Given the description of an element on the screen output the (x, y) to click on. 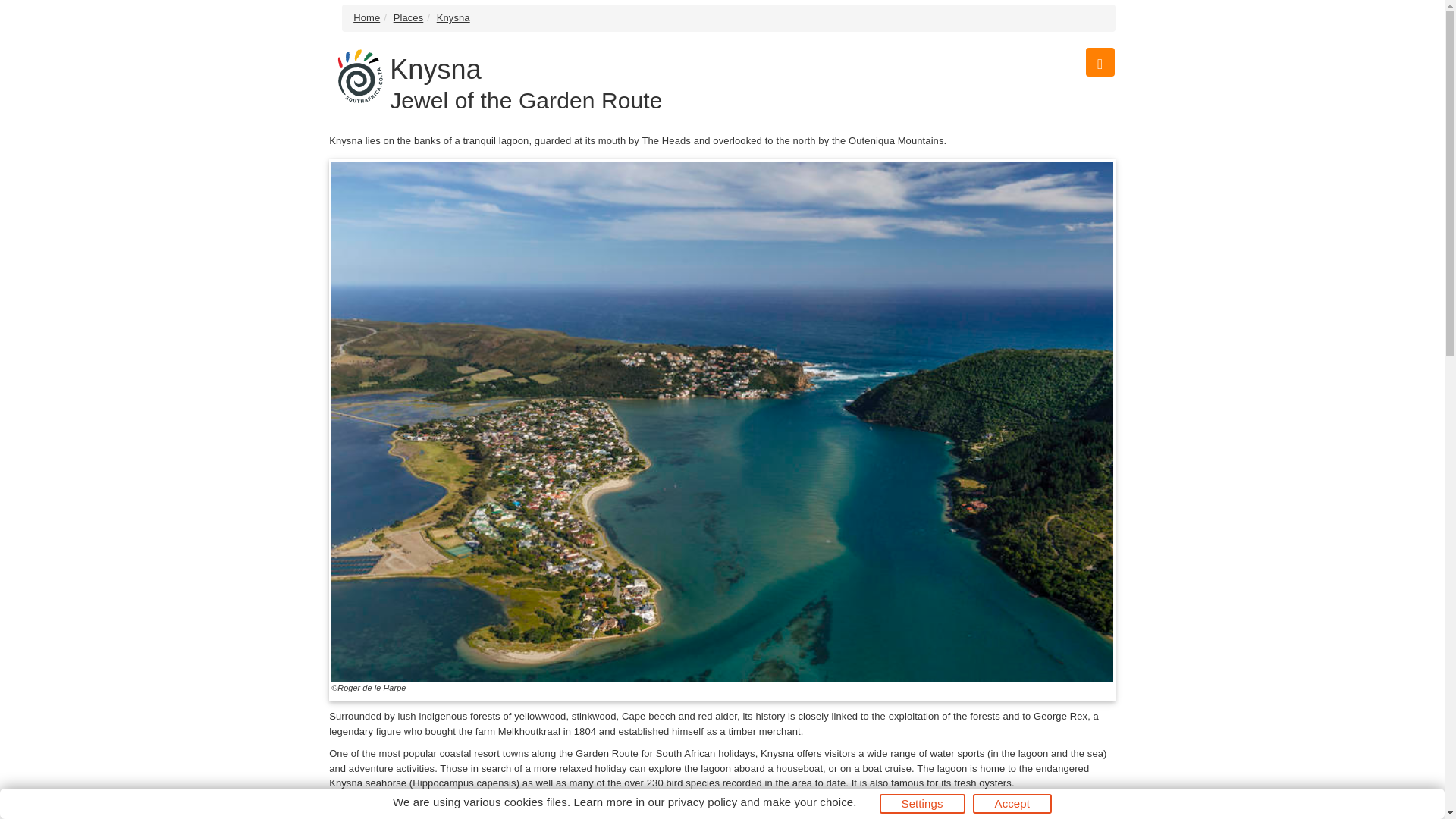
Home (366, 17)
Places (408, 17)
Knysna (453, 17)
Accept (1011, 803)
privacy policy (702, 800)
Settings (922, 803)
